Given the description of an element on the screen output the (x, y) to click on. 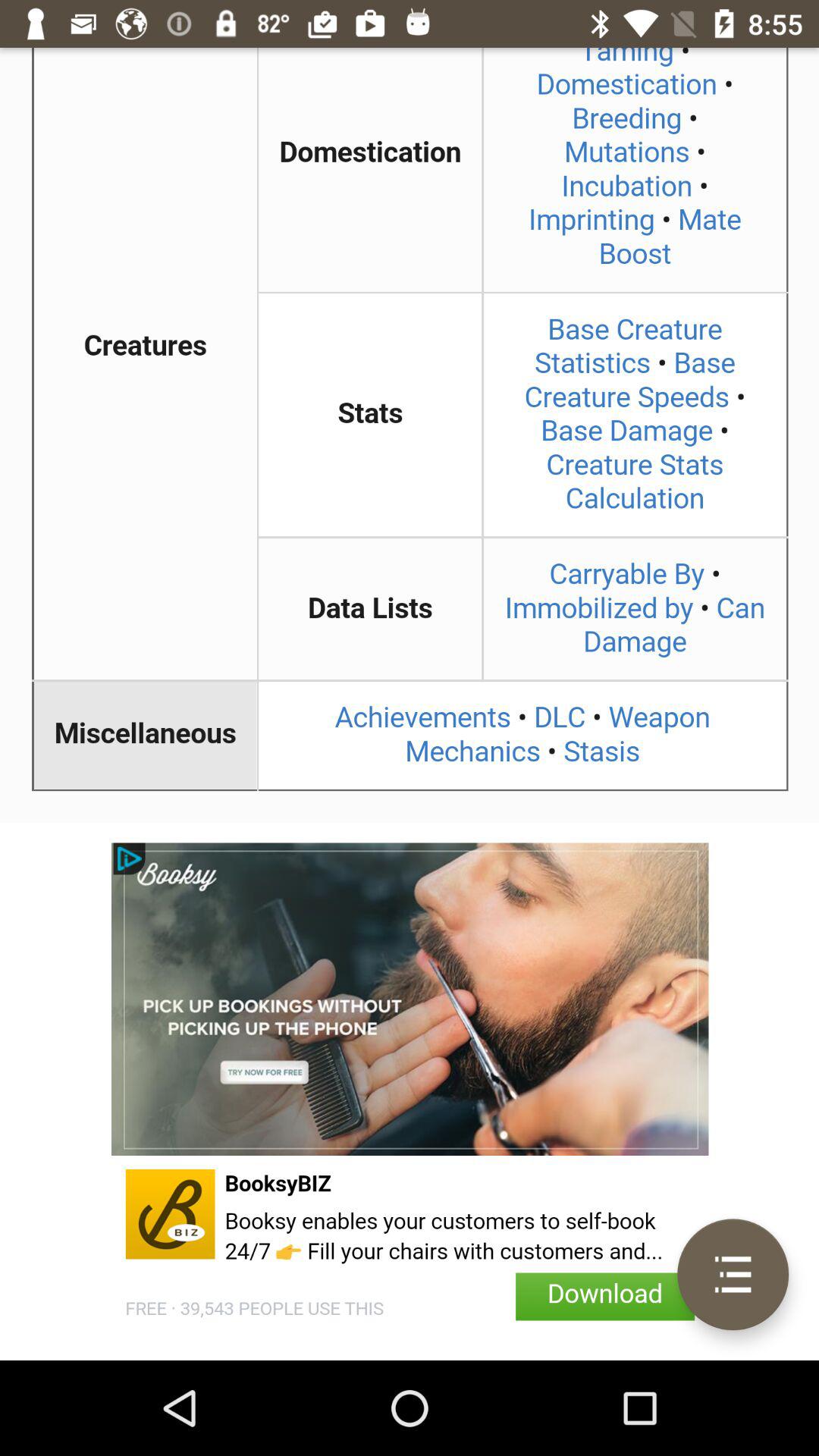
share the article (409, 434)
